Given the description of an element on the screen output the (x, y) to click on. 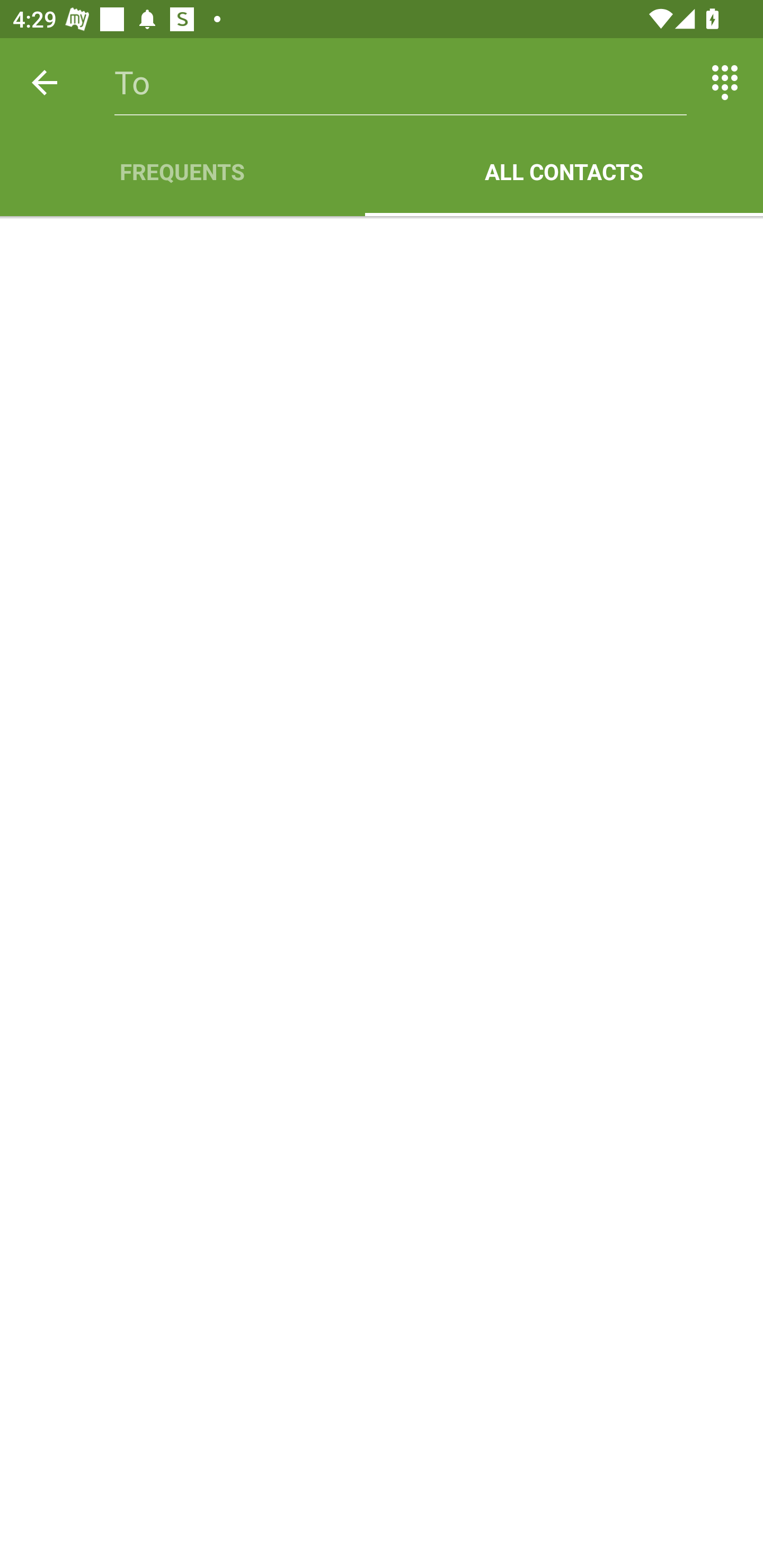
Back (44, 82)
Switch between entering text and numbers (724, 81)
To (400, 82)
FREQUENTS (182, 171)
ALL CONTACTS (563, 171)
